Given the description of an element on the screen output the (x, y) to click on. 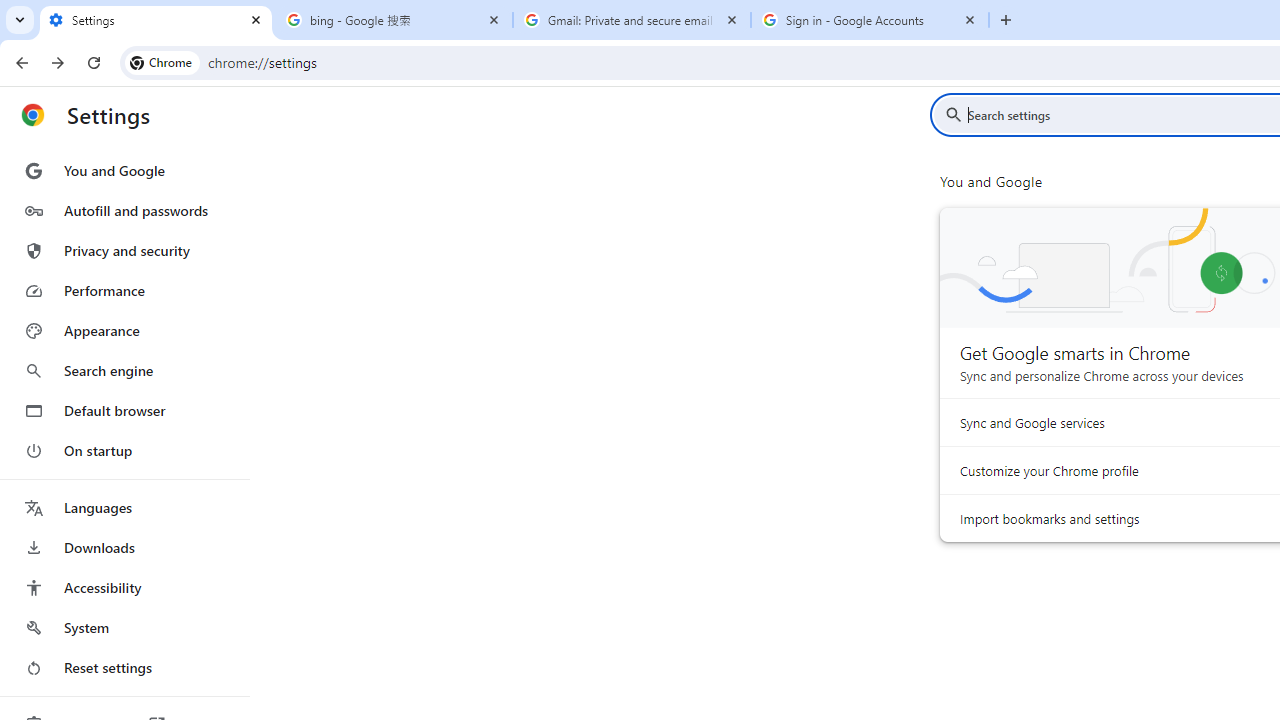
Downloads (124, 547)
Performance (124, 290)
Languages (124, 507)
Appearance (124, 331)
Default browser (124, 410)
Reset settings (124, 668)
Settings (156, 20)
Accessibility (124, 587)
